Given the description of an element on the screen output the (x, y) to click on. 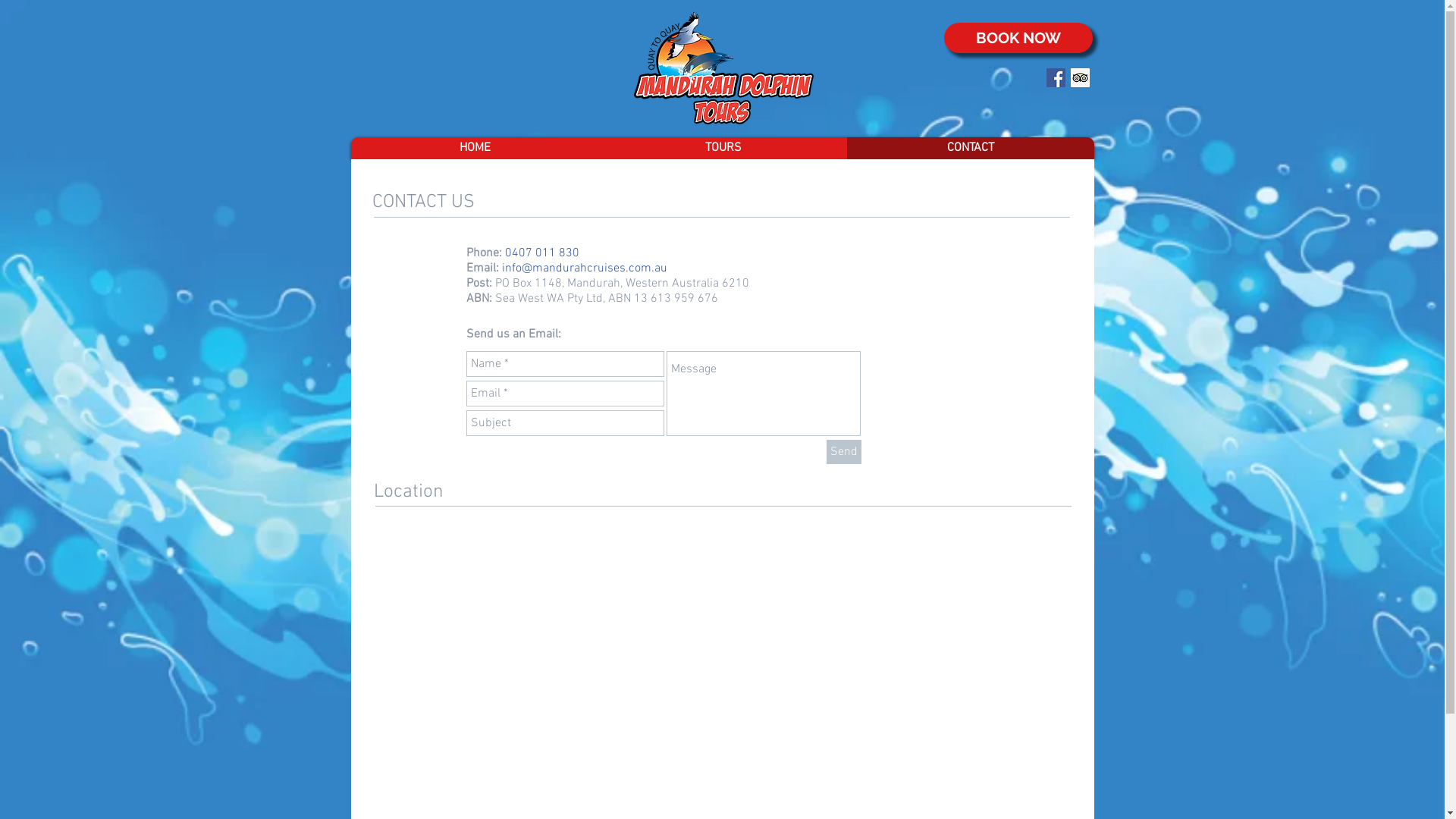
Send Element type: text (843, 451)
Google Maps Element type: hover (662, 675)
HOME Element type: text (474, 148)
info@mandurahcruises.com.au Element type: text (584, 268)
CONTACT Element type: text (969, 148)
BOOK NOW Element type: text (1017, 37)
0407 011 830 Element type: text (542, 252)
